Given the description of an element on the screen output the (x, y) to click on. 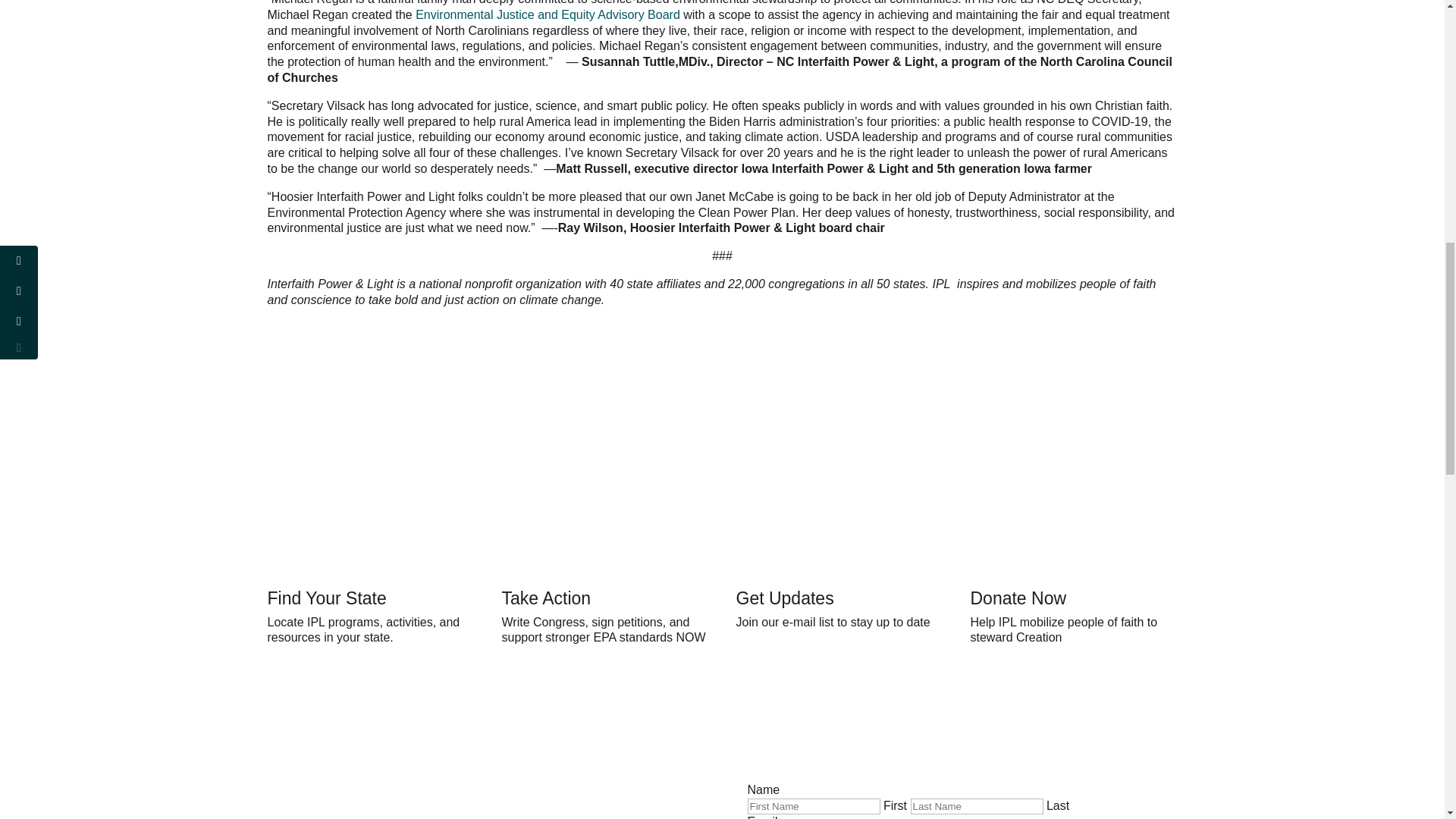
Environmental Justice and Equity Advisory Board (546, 14)
